Given the description of an element on the screen output the (x, y) to click on. 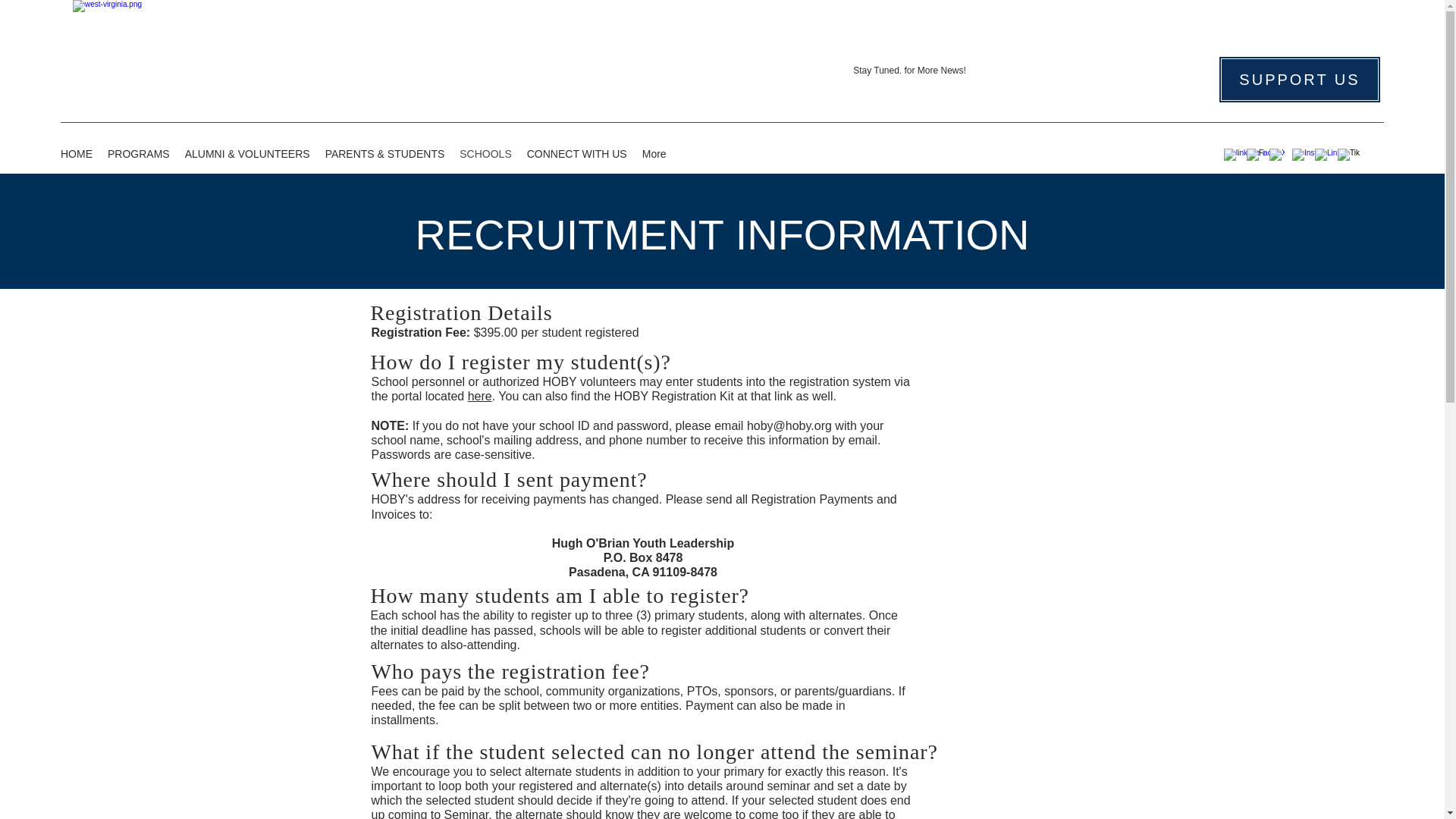
SCHOOLS (484, 155)
CONNECT WITH US (576, 155)
here (479, 395)
HOME (76, 155)
SUPPORT US (1299, 79)
PROGRAMS (138, 155)
